Given the description of an element on the screen output the (x, y) to click on. 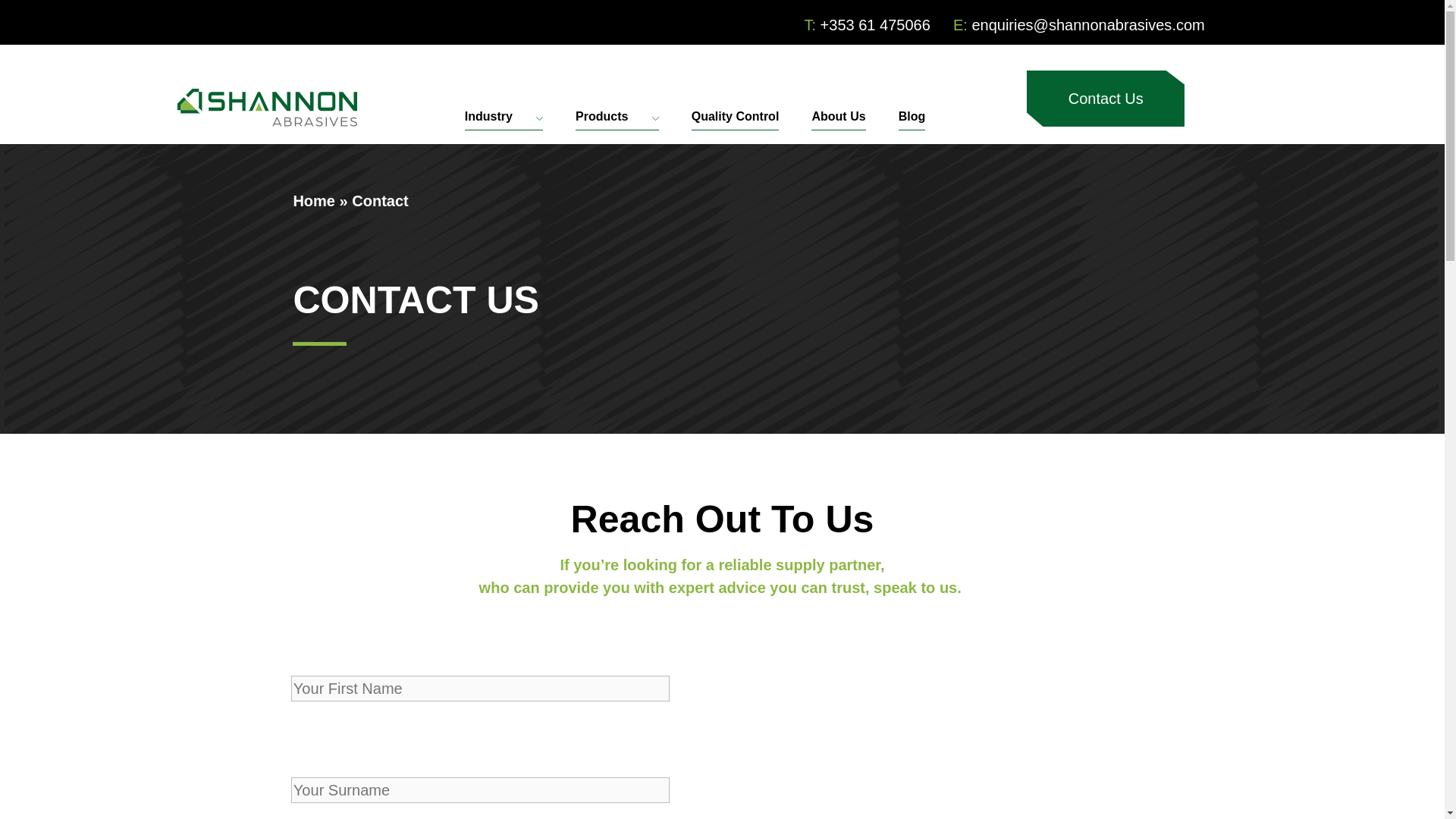
Contact Us (1105, 98)
Home (313, 200)
Quality Control (734, 126)
Industry (503, 126)
About Us (837, 126)
Products (617, 126)
